Given the description of an element on the screen output the (x, y) to click on. 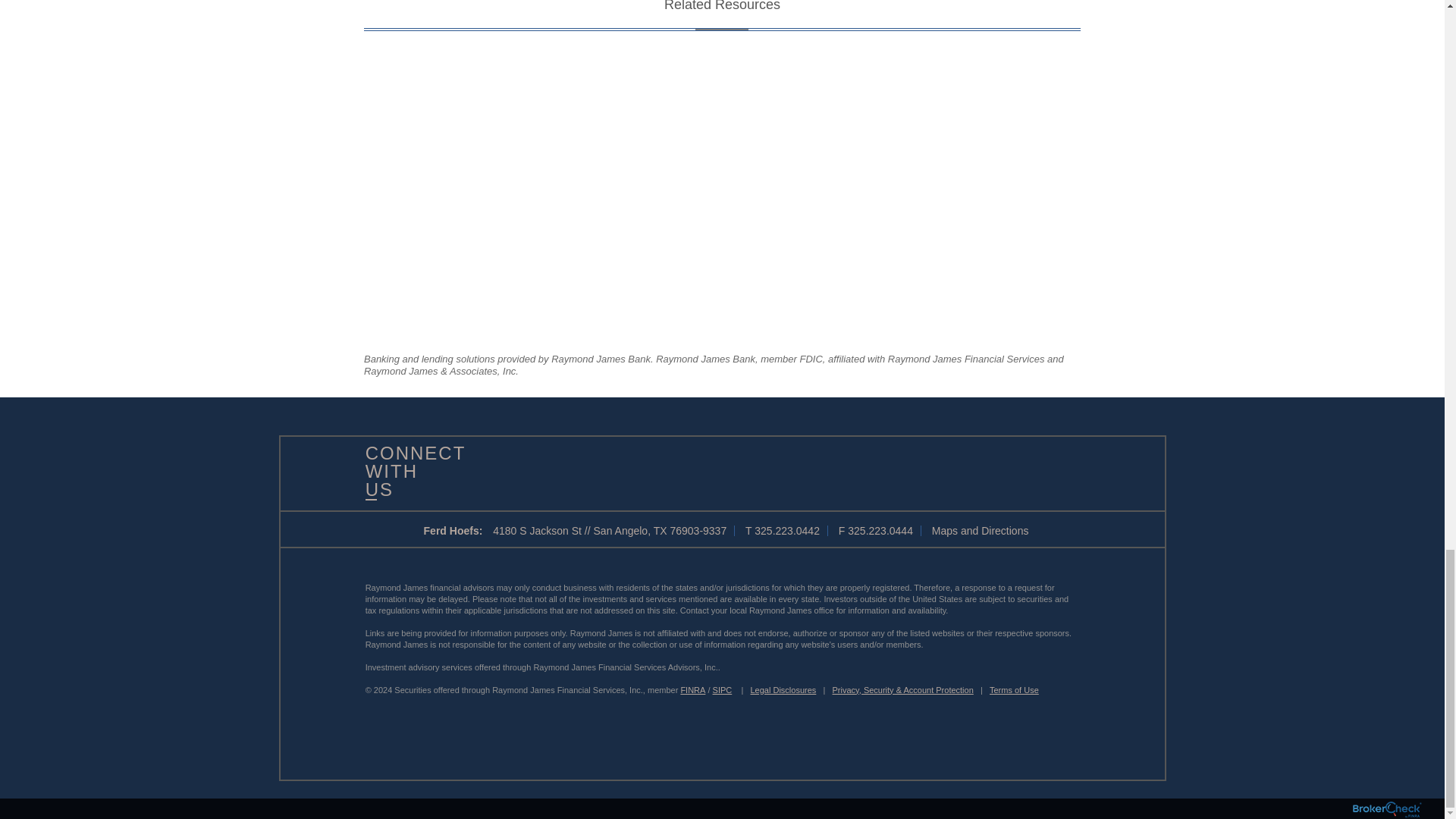
Terms of Use (1014, 689)
Privacy, Security and Account Protection (903, 689)
FINRA (691, 689)
Legal Disclosures (783, 689)
SIPC (722, 689)
